Given the description of an element on the screen output the (x, y) to click on. 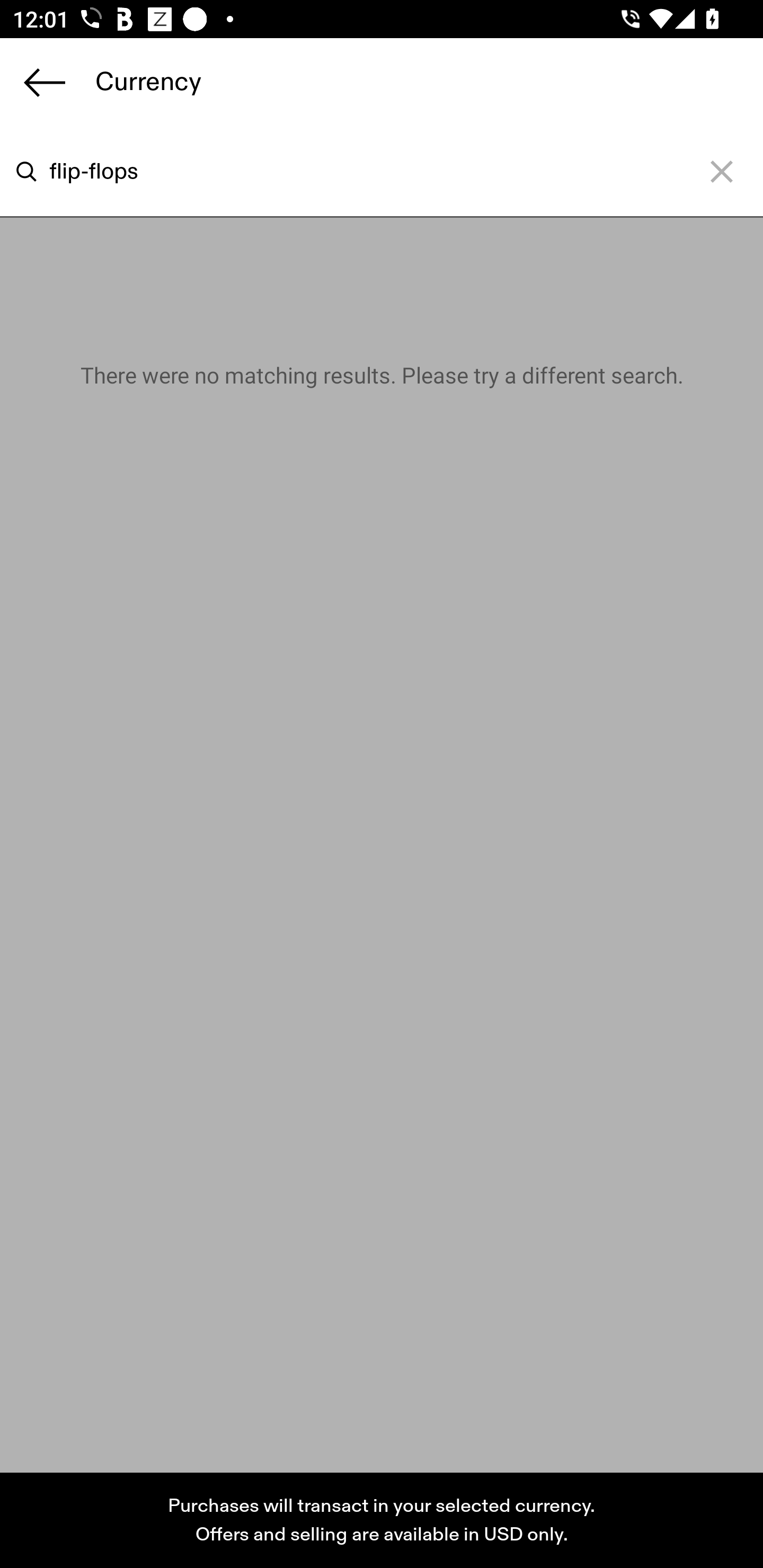
Navigate up (44, 82)
flip-flops (355, 171)
